Given the description of an element on the screen output the (x, y) to click on. 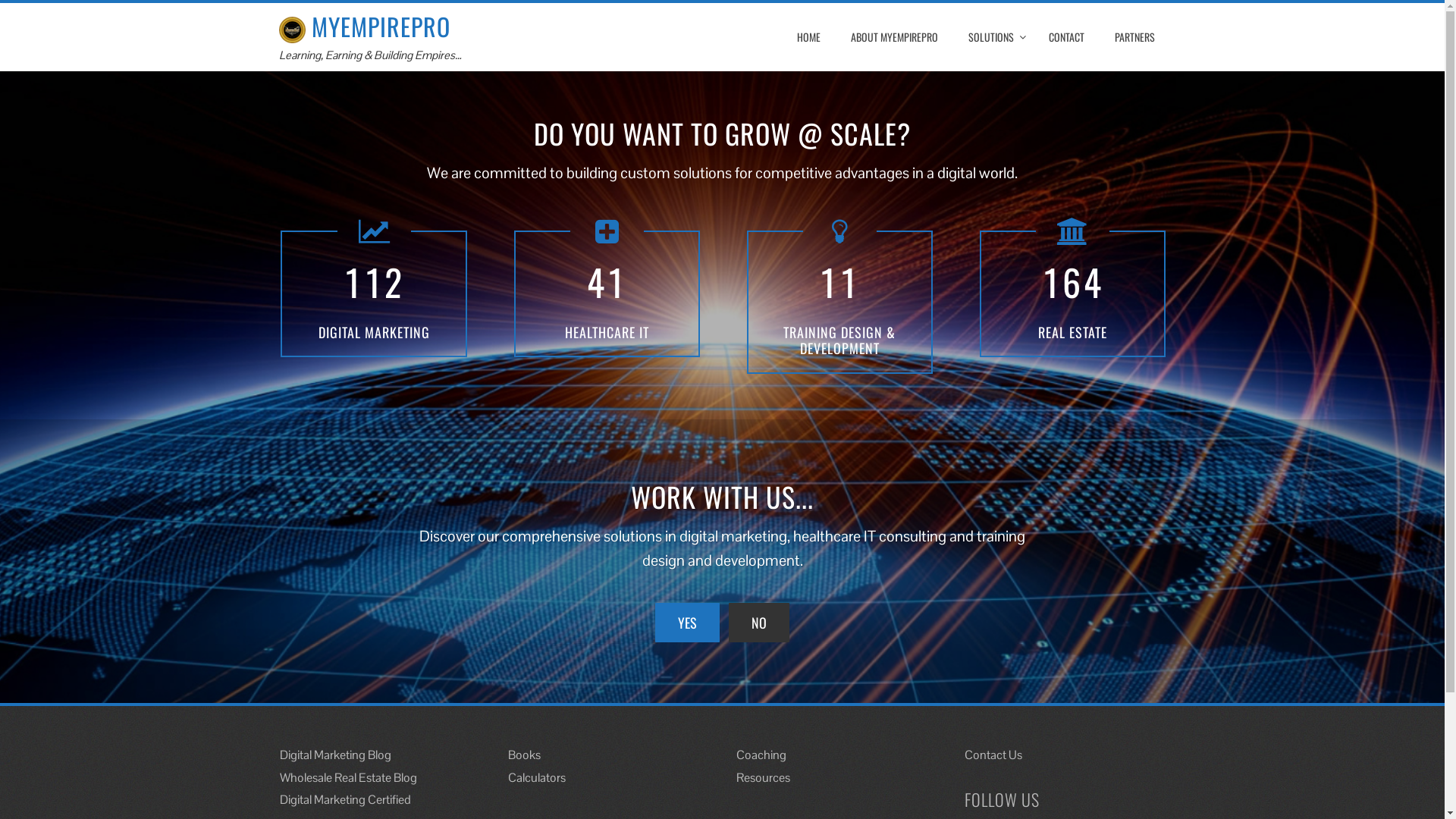
PARTNERS Element type: text (1133, 36)
CONTACT Element type: text (1066, 36)
YES Element type: text (687, 622)
Contact Us Element type: text (993, 754)
Books Element type: text (524, 754)
Digital Marketing Blog Element type: text (335, 754)
Wholesale Real Estate Blog Element type: text (348, 777)
NO Element type: text (758, 622)
Coaching Element type: text (761, 754)
ABOUT MYEMPIREPRO Element type: text (893, 36)
HOME Element type: text (808, 36)
Digital Marketing Certified Element type: text (345, 799)
Calculators Element type: text (536, 777)
Resources Element type: text (763, 777)
SOLUTIONS Element type: text (993, 36)
myEmpirePRO Element type: hover (292, 29)
MYEMPIREPRO Element type: text (364, 25)
